Given the description of an element on the screen output the (x, y) to click on. 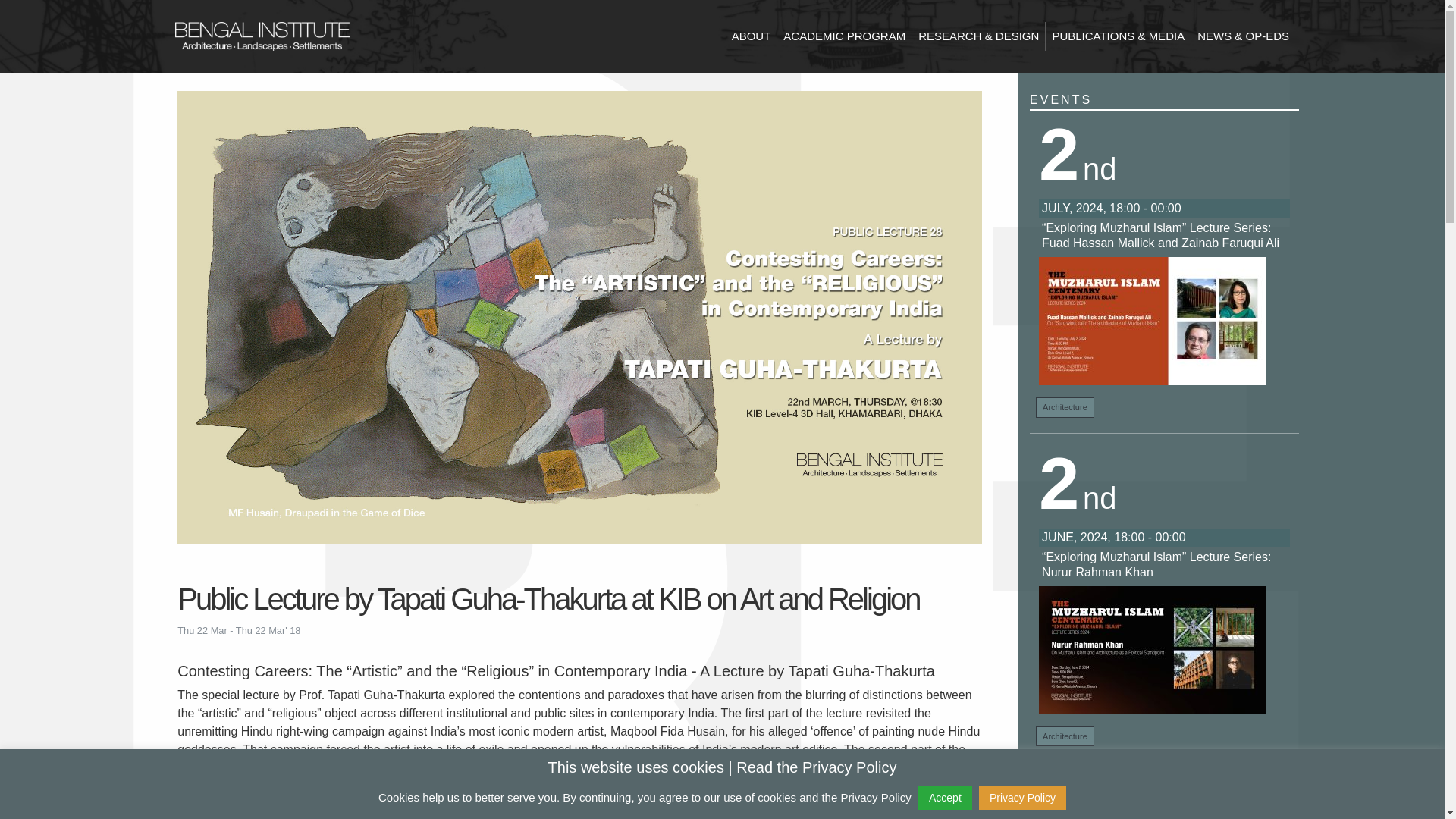
ACADEMIC PROGRAM (844, 36)
Architecture (1064, 736)
Architecture (1064, 407)
EVENTS (1060, 99)
Accept (945, 797)
Privacy Policy (1021, 797)
ABOUT (751, 36)
